Given the description of an element on the screen output the (x, y) to click on. 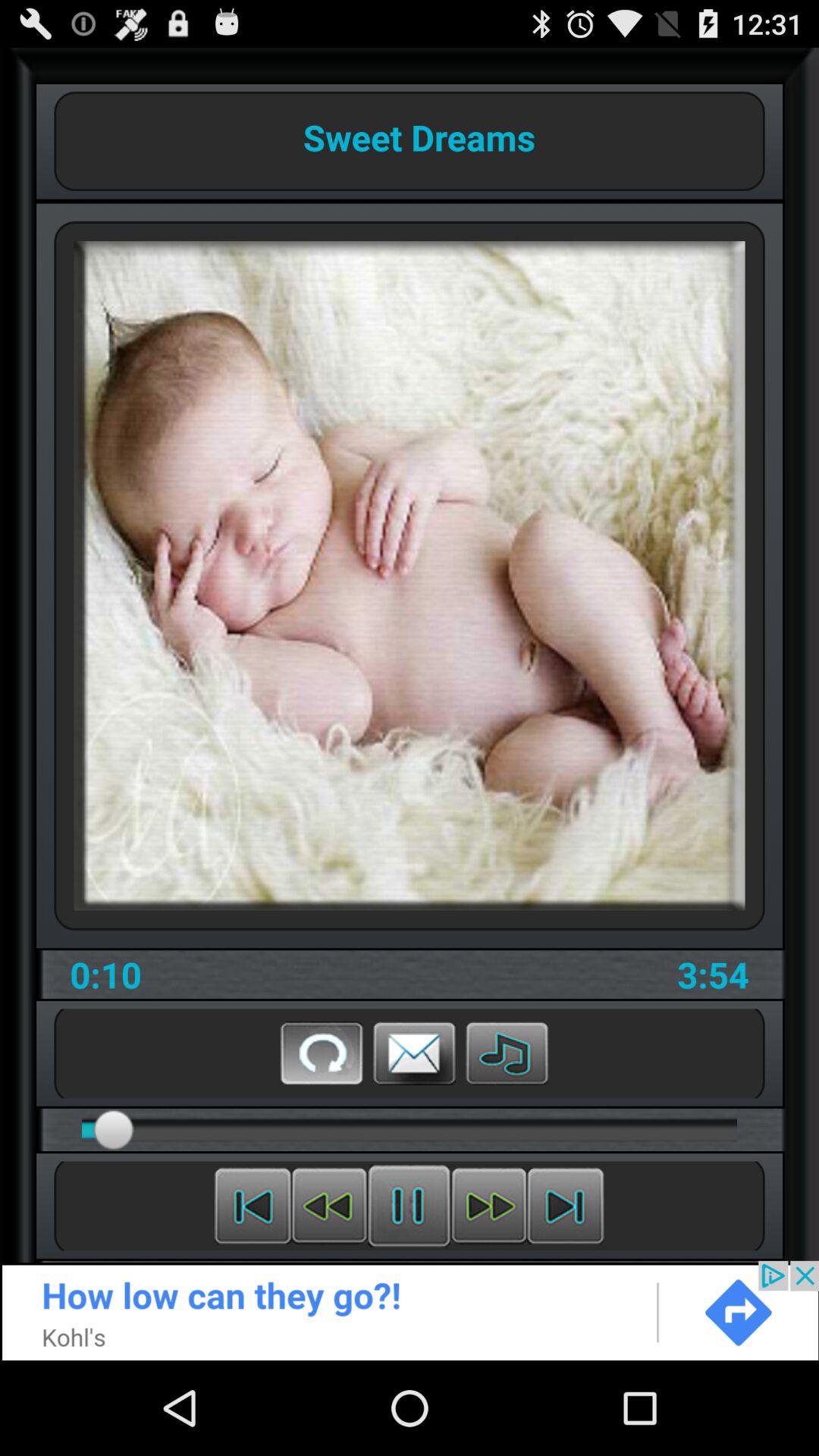
replay button (321, 1053)
